Given the description of an element on the screen output the (x, y) to click on. 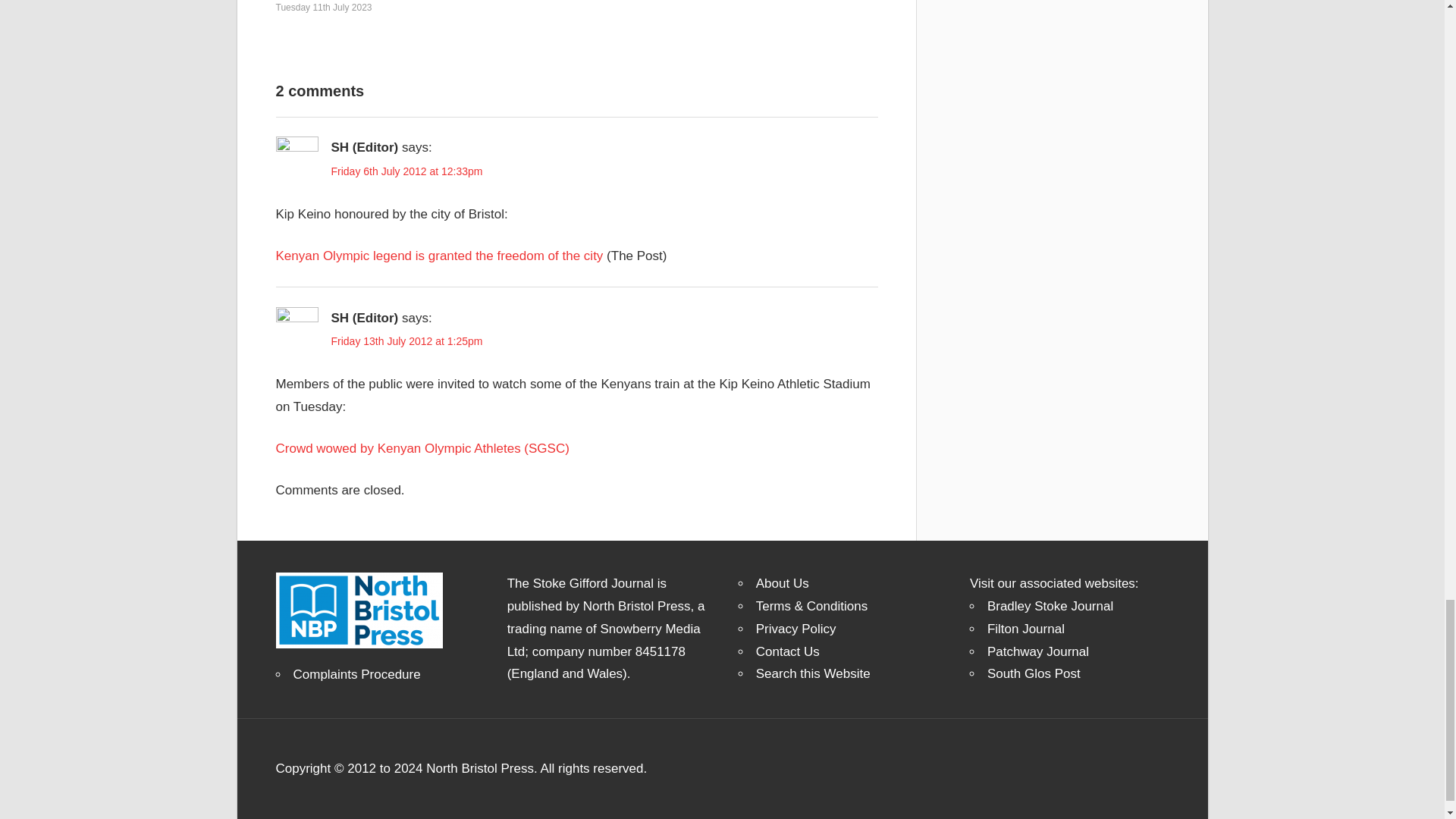
11:02pm (324, 7)
